Given the description of an element on the screen output the (x, y) to click on. 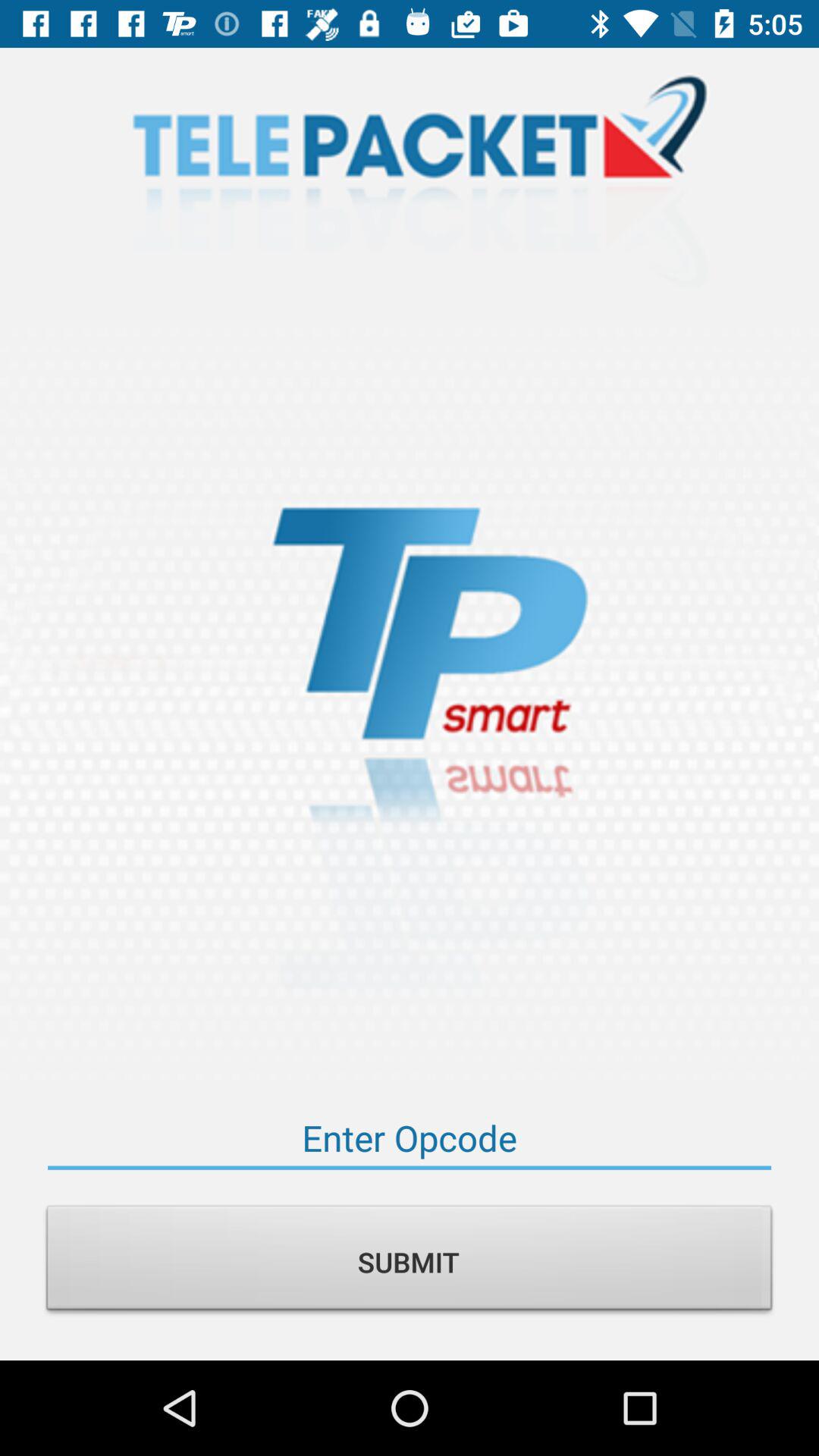
enter your opcode (409, 1138)
